Given the description of an element on the screen output the (x, y) to click on. 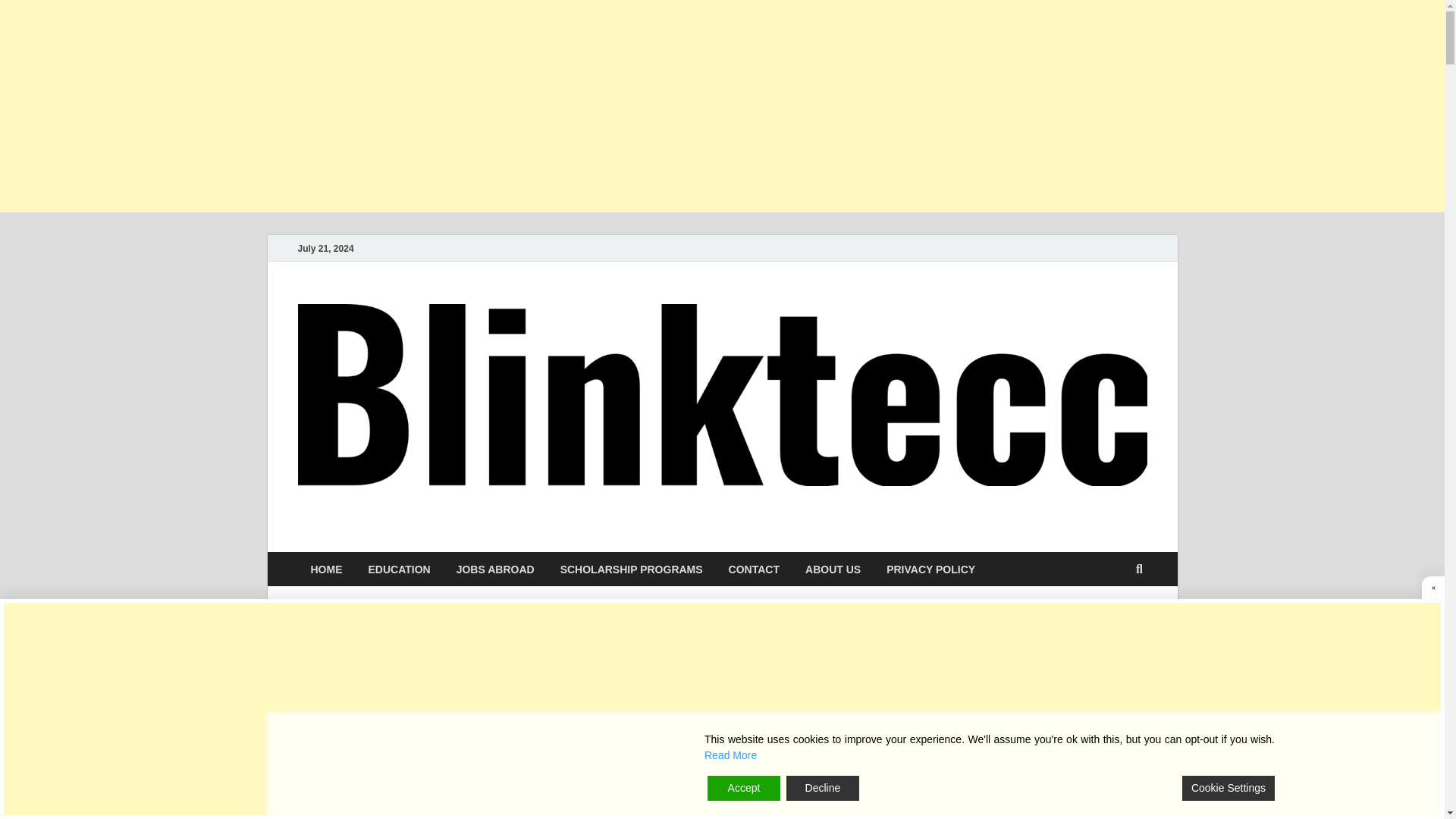
Advertisement (575, 720)
PRIVACY POLICY (930, 569)
EDUCATION (398, 569)
CONTACT (754, 569)
HOME (326, 569)
JOBS ABROAD (495, 569)
ABOUT US (832, 569)
SCHOLARSHIP PROGRAMS (631, 569)
